Given the description of an element on the screen output the (x, y) to click on. 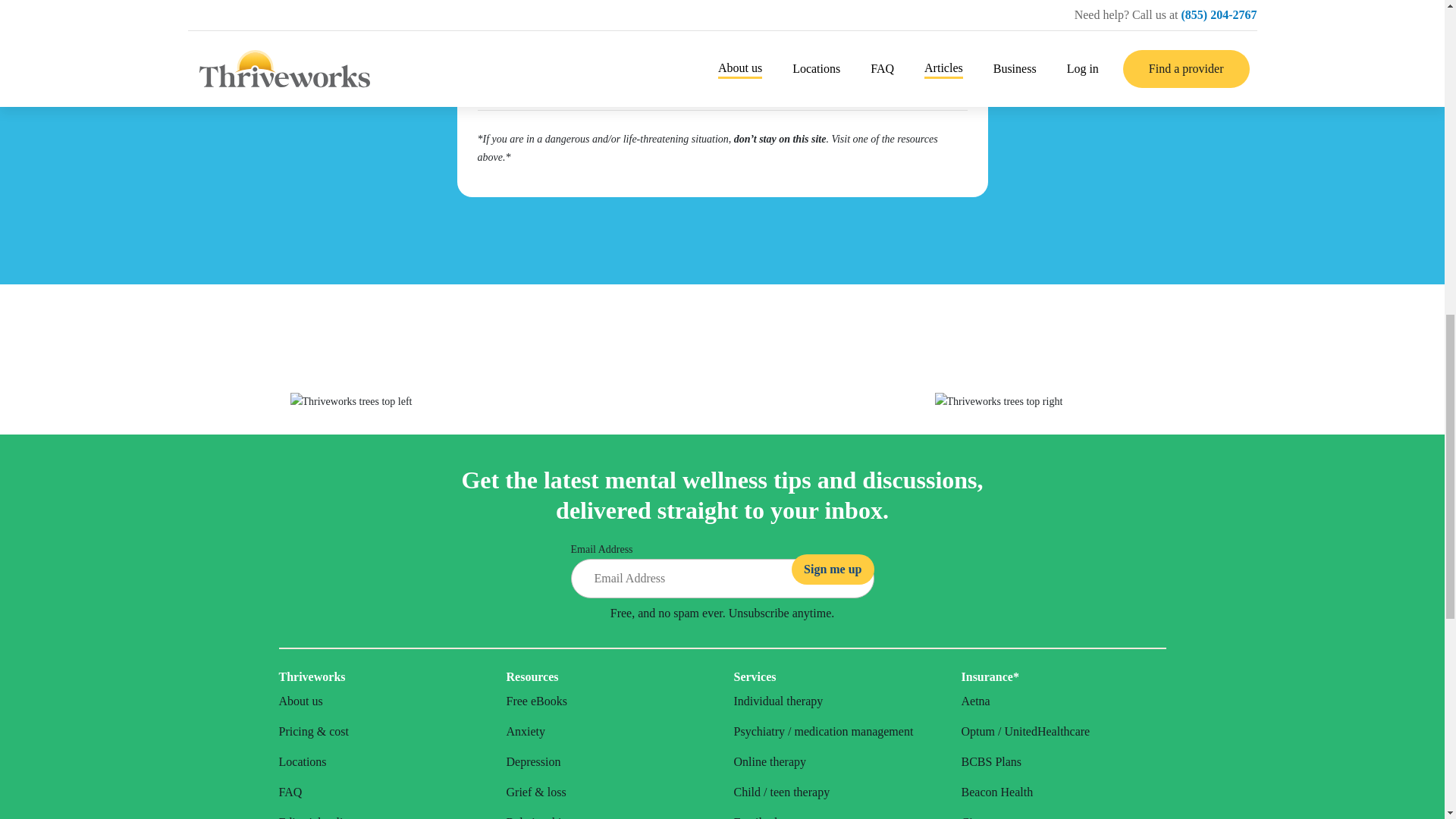
Sign me up (832, 569)
